Given the description of an element on the screen output the (x, y) to click on. 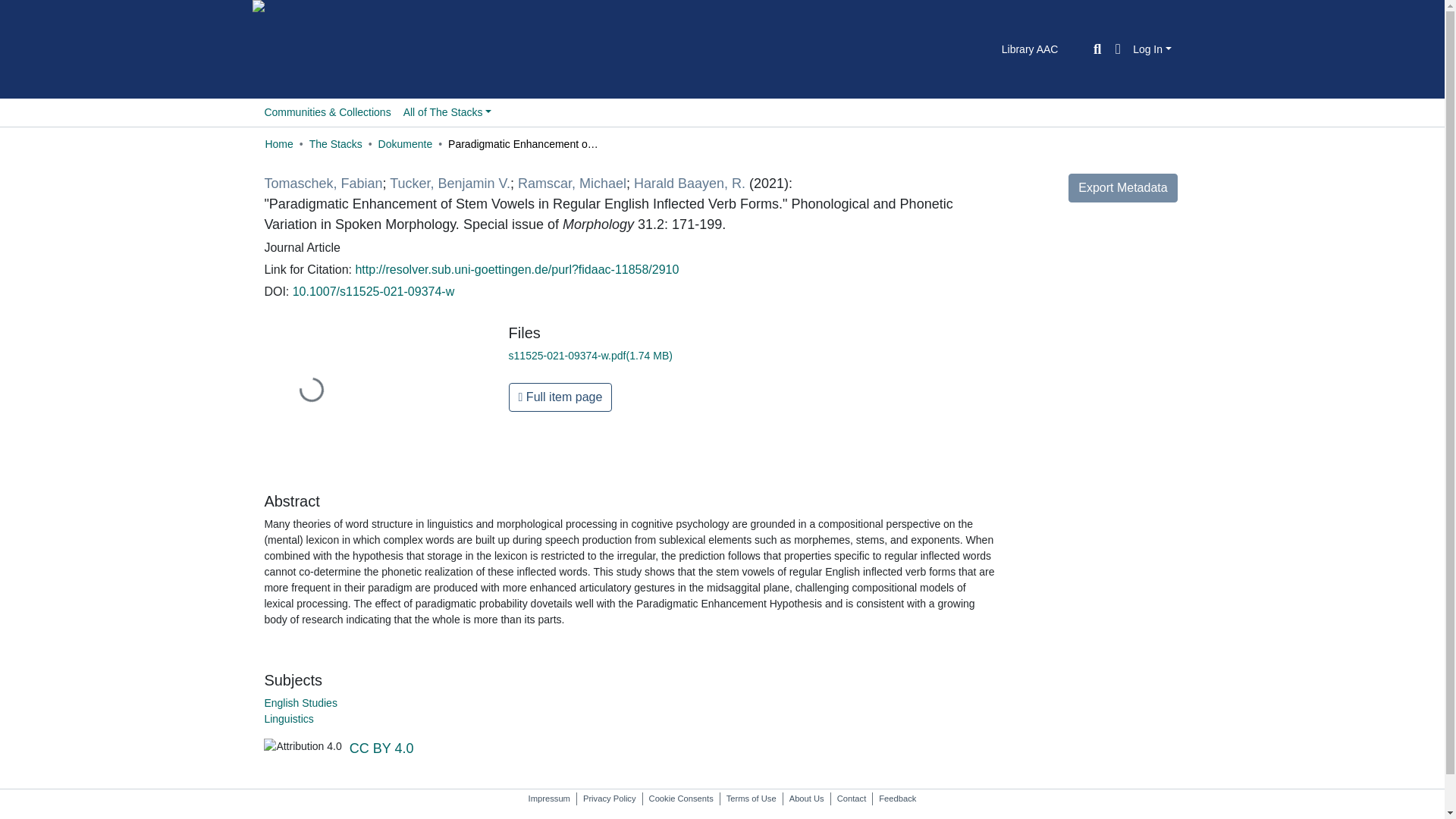
Impressum (549, 798)
Log In (1151, 48)
About Us (806, 798)
Home (278, 144)
Export Metadata (1122, 187)
The Stacks (335, 144)
Feedback (896, 798)
Contact (851, 798)
Linguistics (288, 718)
Full item page (560, 397)
Search (1096, 48)
Tucker, Benjamin V. (450, 183)
Library AAC (1029, 48)
Dokumente (405, 144)
Privacy Policy (609, 798)
